Given the description of an element on the screen output the (x, y) to click on. 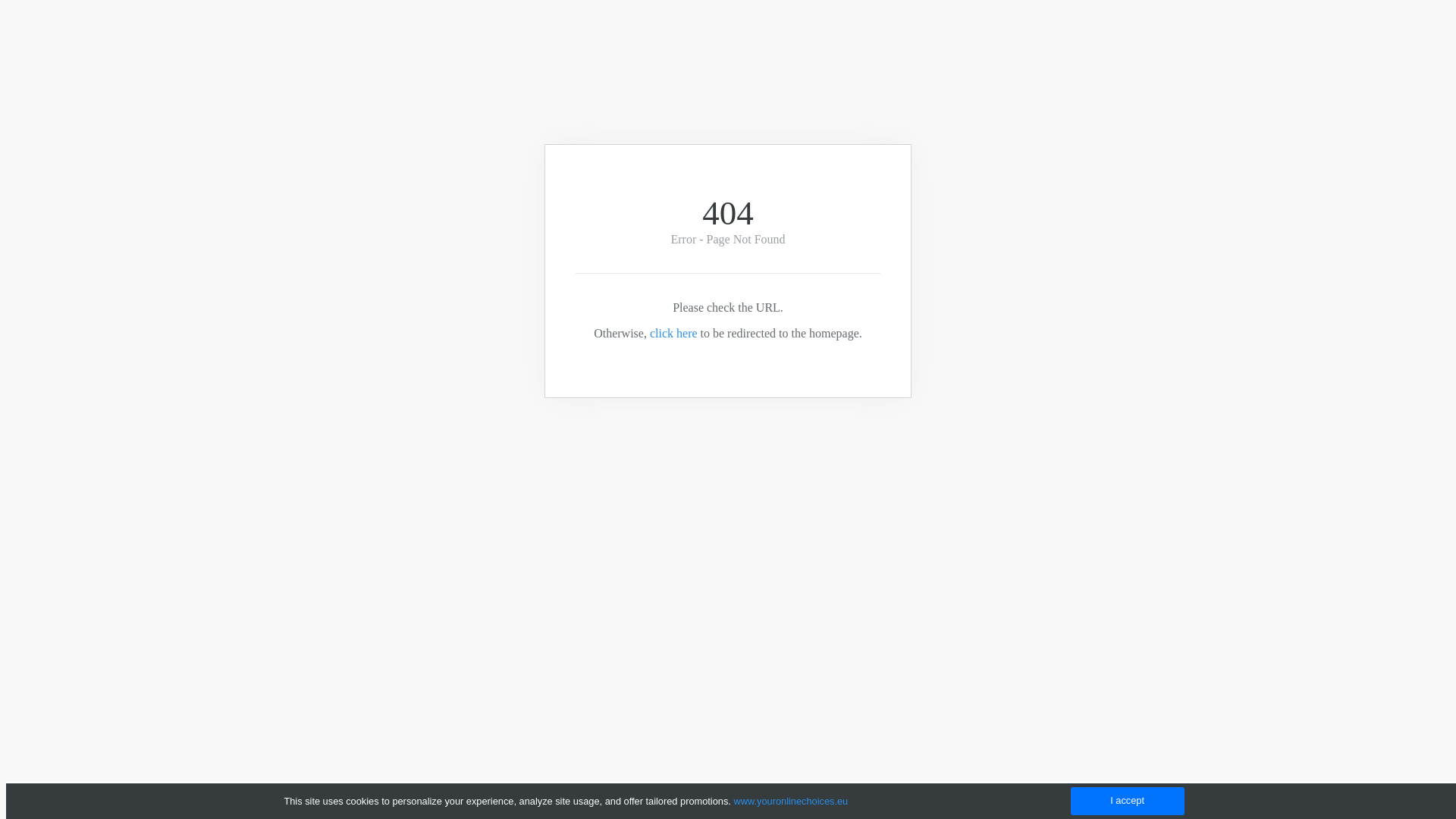
www.youronlinechoices.eu Element type: text (790, 800)
click here Element type: text (673, 332)
I accept Element type: text (1127, 801)
